Given the description of an element on the screen output the (x, y) to click on. 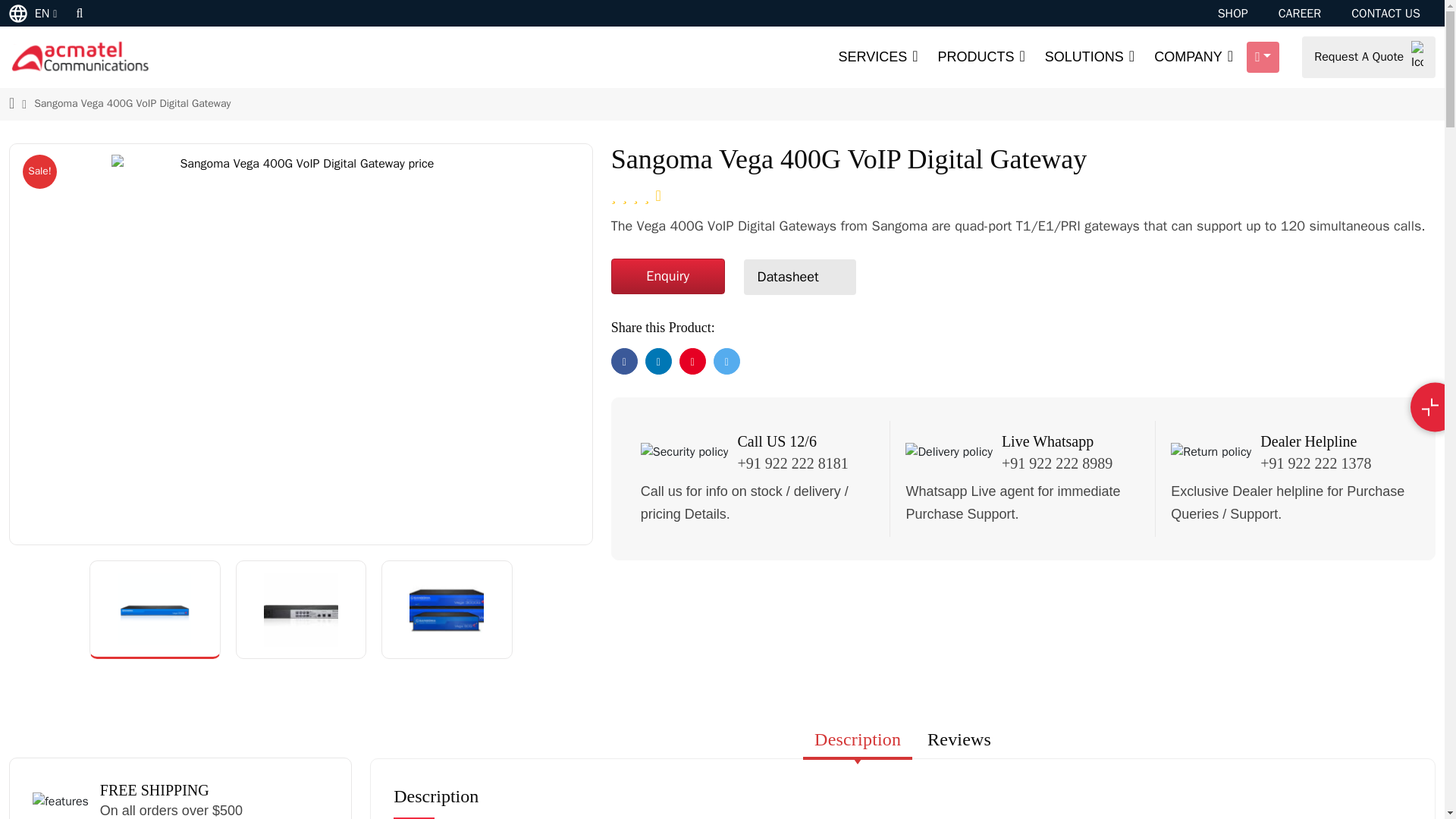
SERVICES (877, 56)
Tweet (726, 361)
Pin it (692, 361)
SHOP (1232, 13)
CONTACT US (1386, 13)
EN (34, 12)
CAREER (1300, 13)
Share on LinkedIn (658, 361)
